Given the description of an element on the screen output the (x, y) to click on. 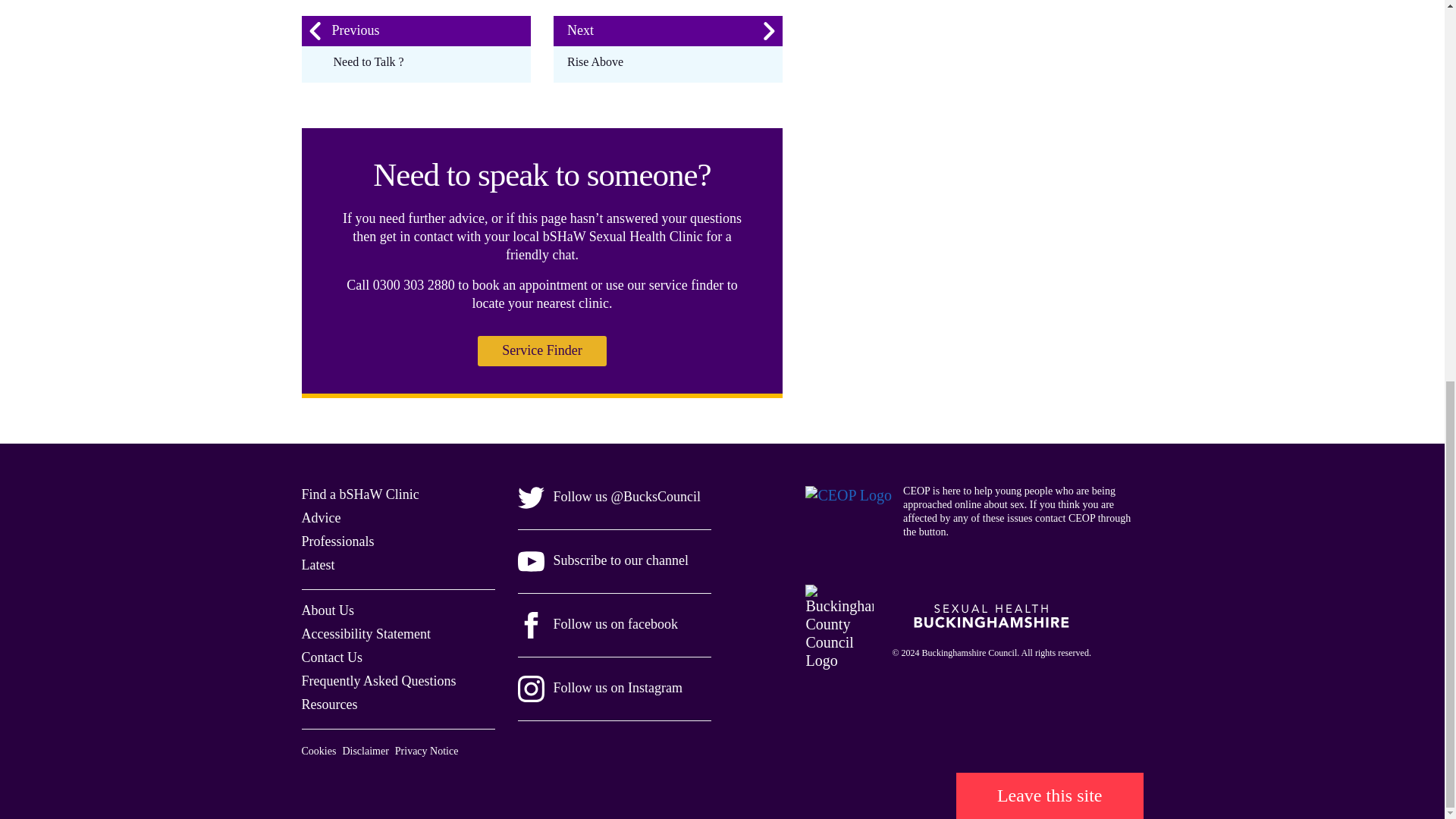
Professionals (337, 540)
About Us (328, 610)
Contact Us (331, 657)
Advice (320, 517)
Latest (317, 564)
Accessibility Statement (365, 633)
Service Finder (541, 350)
Find a bSHaW Clinic (360, 494)
